Given the description of an element on the screen output the (x, y) to click on. 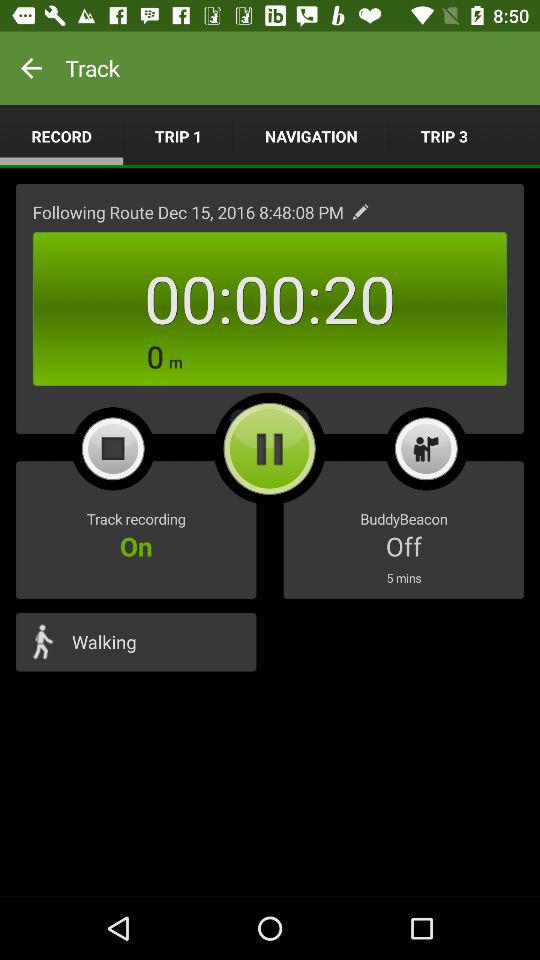
flip to the trip 1 item (178, 136)
